Given the description of an element on the screen output the (x, y) to click on. 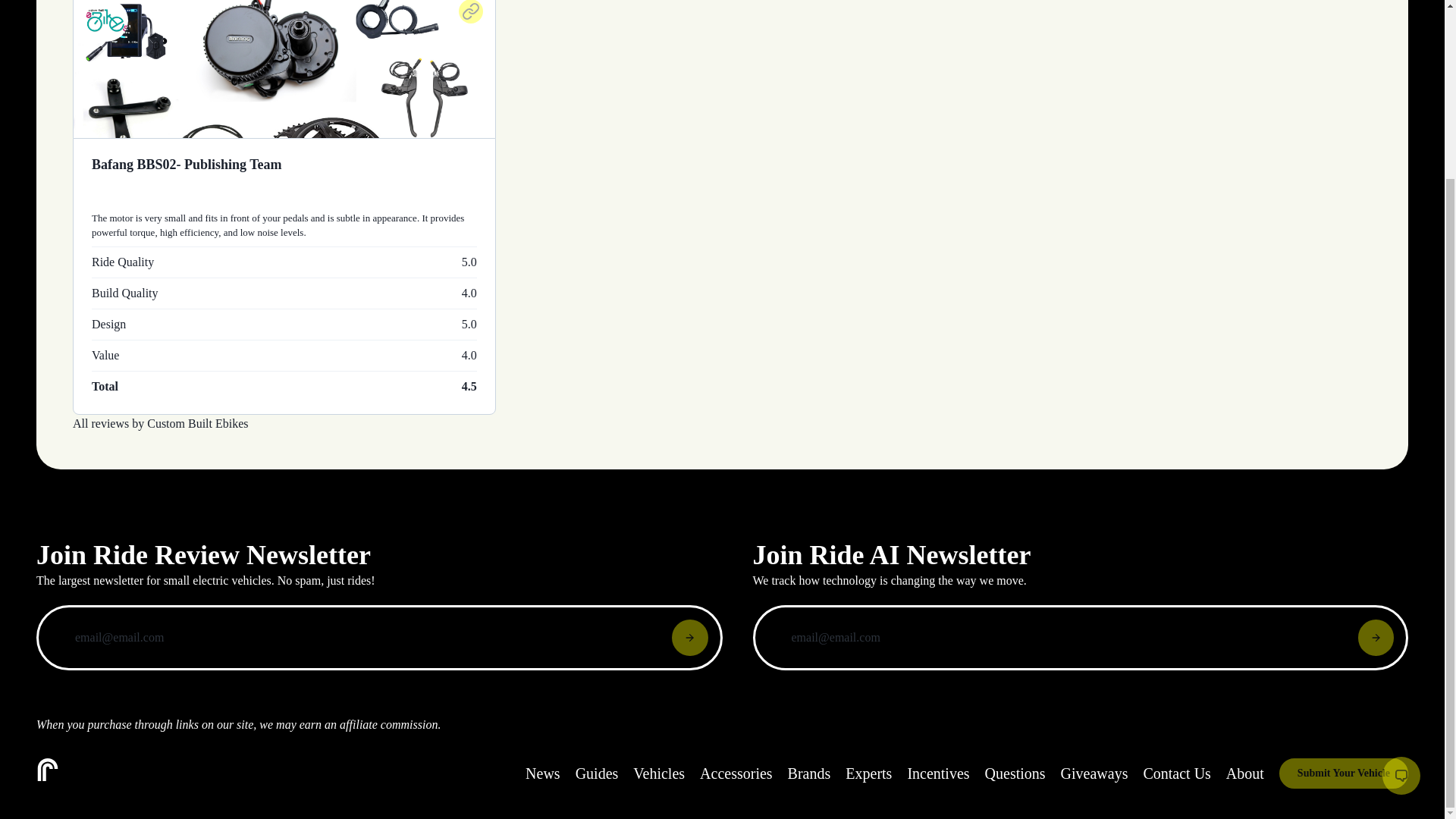
Submit Your Vehicle (1343, 773)
Brands (809, 773)
Guides (596, 773)
Experts (868, 773)
Contact Us (1175, 773)
Incentives (938, 773)
All reviews by Custom Built Ebikes (160, 422)
News (542, 773)
Vehicles (658, 773)
Giveaways (1094, 773)
Questions (1015, 773)
About (1244, 773)
Accessories (736, 773)
